Given the description of an element on the screen output the (x, y) to click on. 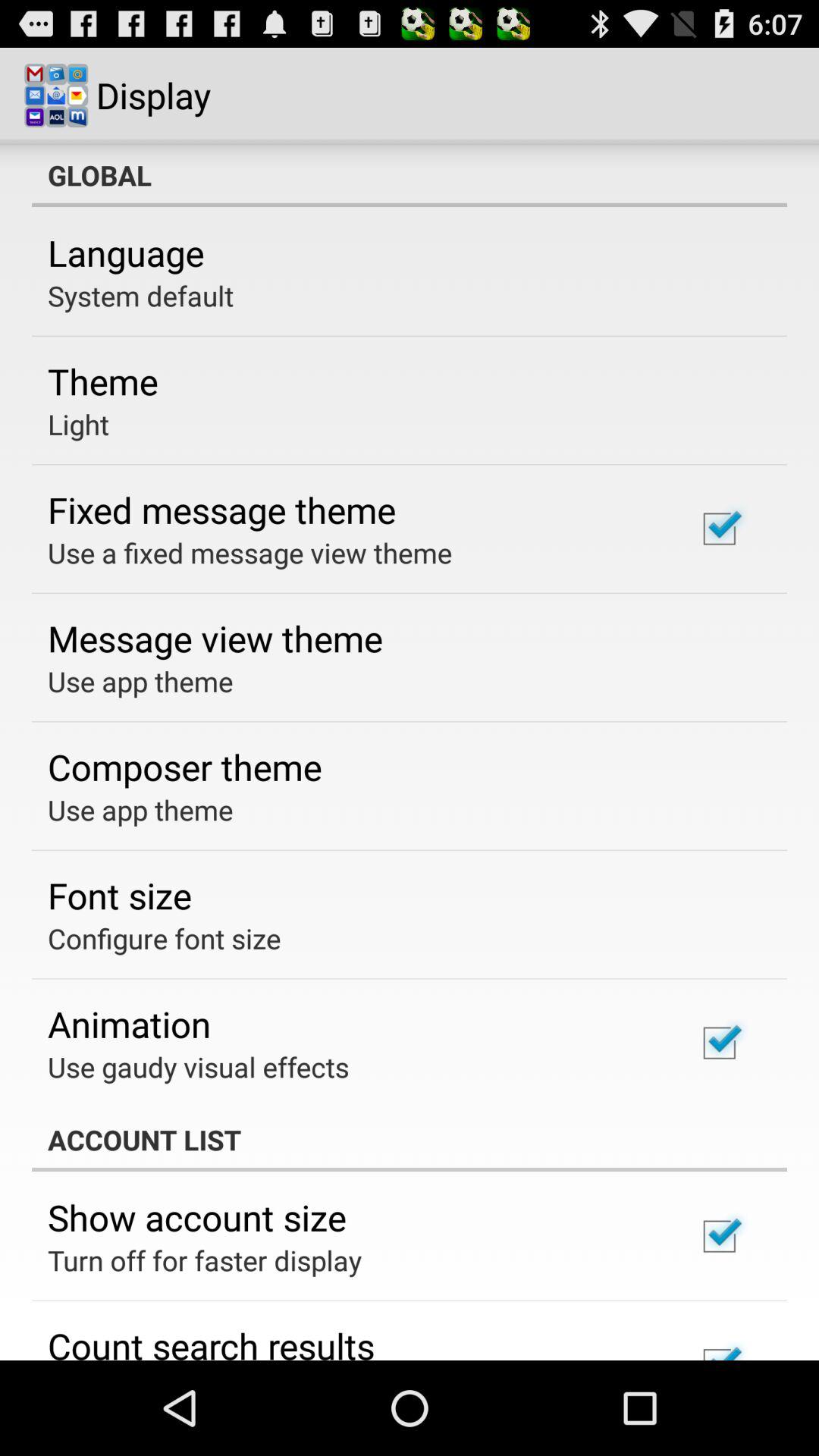
scroll until the use a fixed (249, 552)
